Given the description of an element on the screen output the (x, y) to click on. 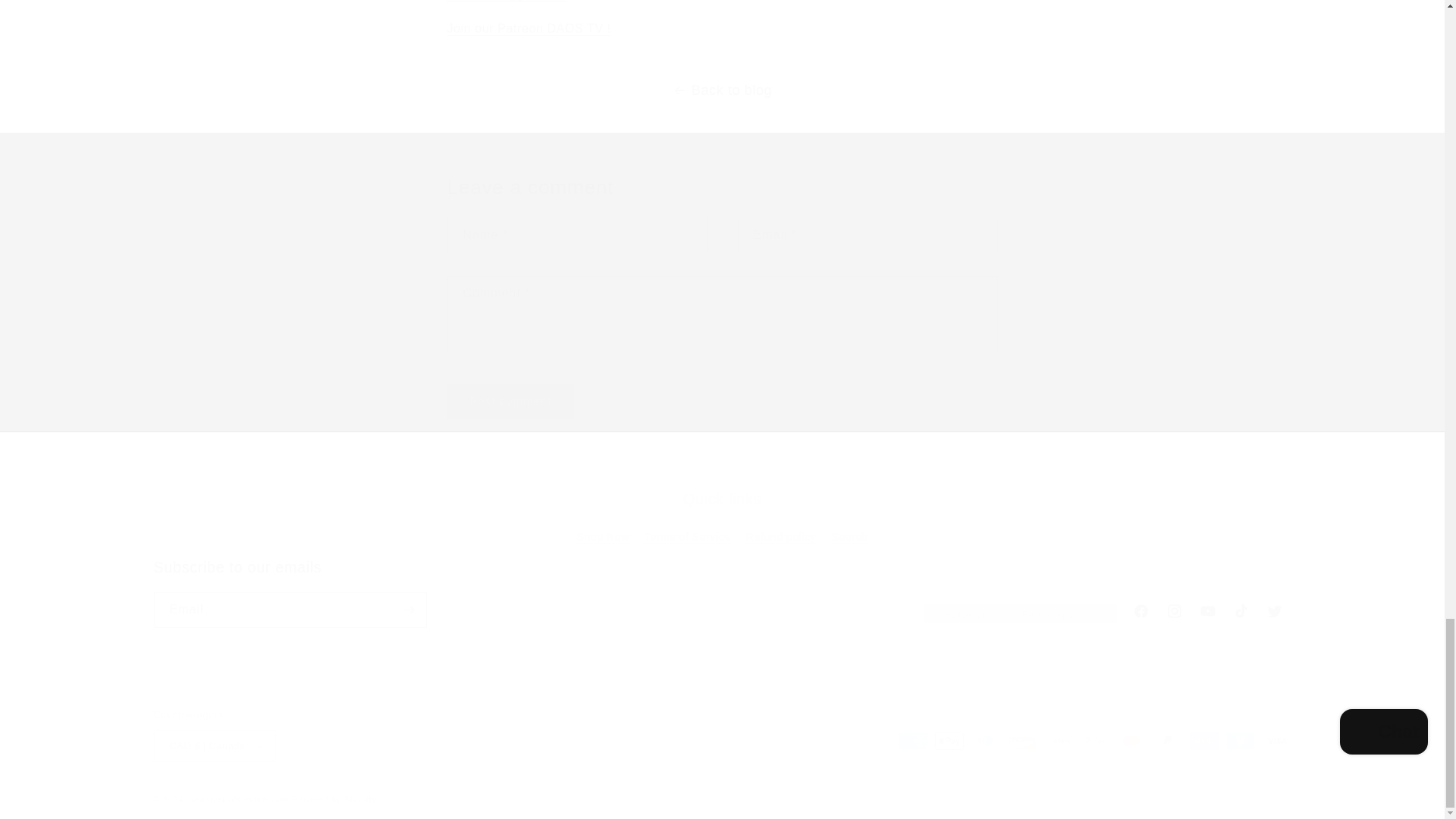
Post comment (510, 401)
